Given the description of an element on the screen output the (x, y) to click on. 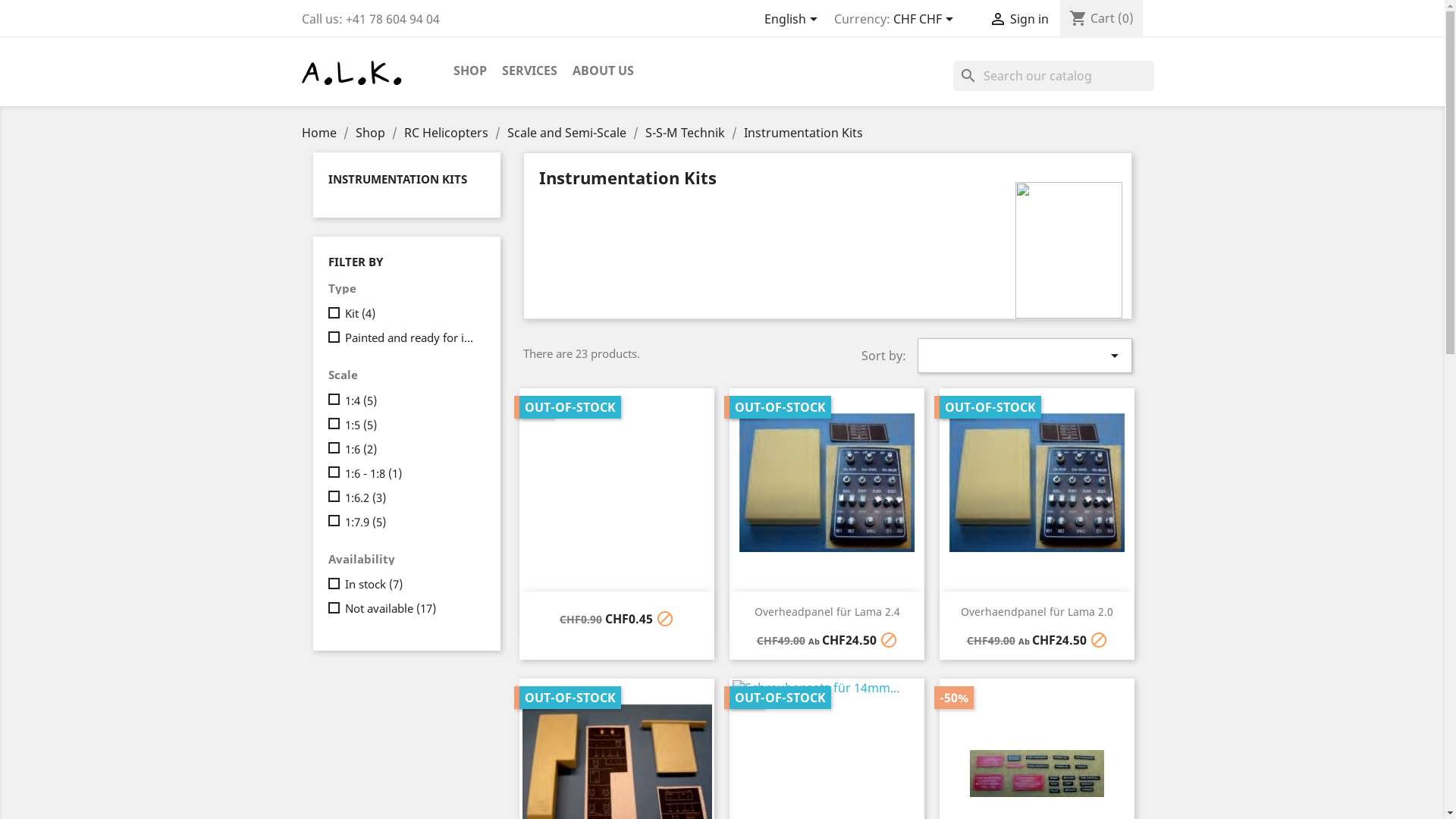
Instrumentation Kits Element type: text (802, 132)
1:6.2 (3) Element type: text (411, 497)
Painted and ready for installation (4) Element type: text (411, 337)
SHOP Element type: text (469, 71)
1:4 (5) Element type: text (411, 399)
Home Element type: text (320, 132)
SERVICES Element type: text (529, 71)
Scale and Semi-Scale Element type: text (567, 132)
1:5 (5) Element type: text (411, 424)
ABOUT US Element type: text (602, 71)
Not available (17) Element type: text (411, 607)
1:6 (2) Element type: text (411, 448)
1:7.9 (5) Element type: text (411, 521)
Kit (4) Element type: text (411, 312)
In stock (7) Element type: text (411, 583)
S-S-M Technik Element type: text (685, 132)
1:6 - 1:8 (1) Element type: text (411, 472)
Shop Element type: text (370, 132)
INSTRUMENTATION KITS Element type: text (396, 178)
RC Helicopters Element type: text (446, 132)
